Given the description of an element on the screen output the (x, y) to click on. 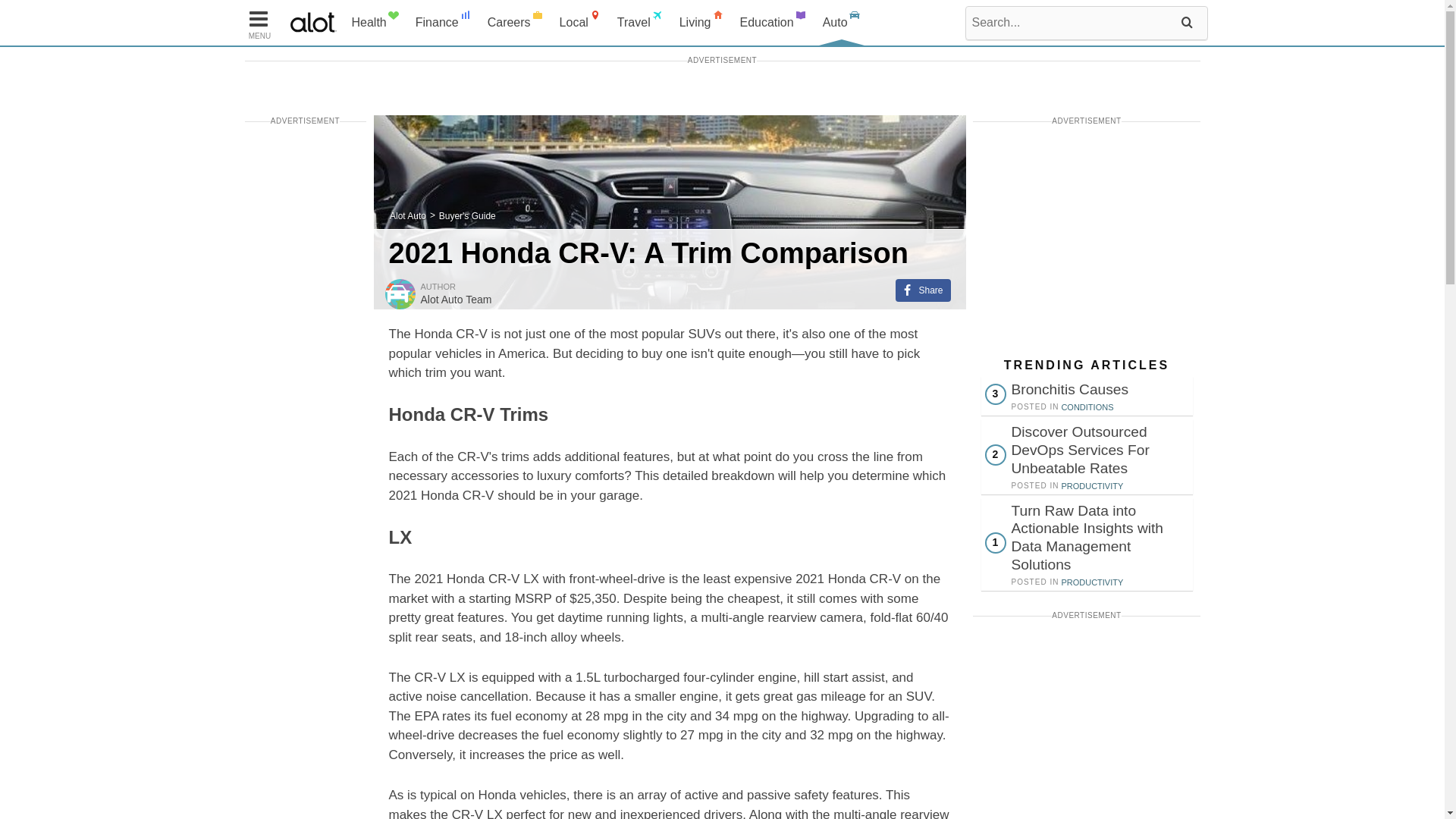
Local (580, 22)
Careers (515, 22)
Travel (640, 22)
Living (701, 22)
Finance (443, 22)
Share on Facebook (922, 290)
Health (375, 22)
